Given the description of an element on the screen output the (x, y) to click on. 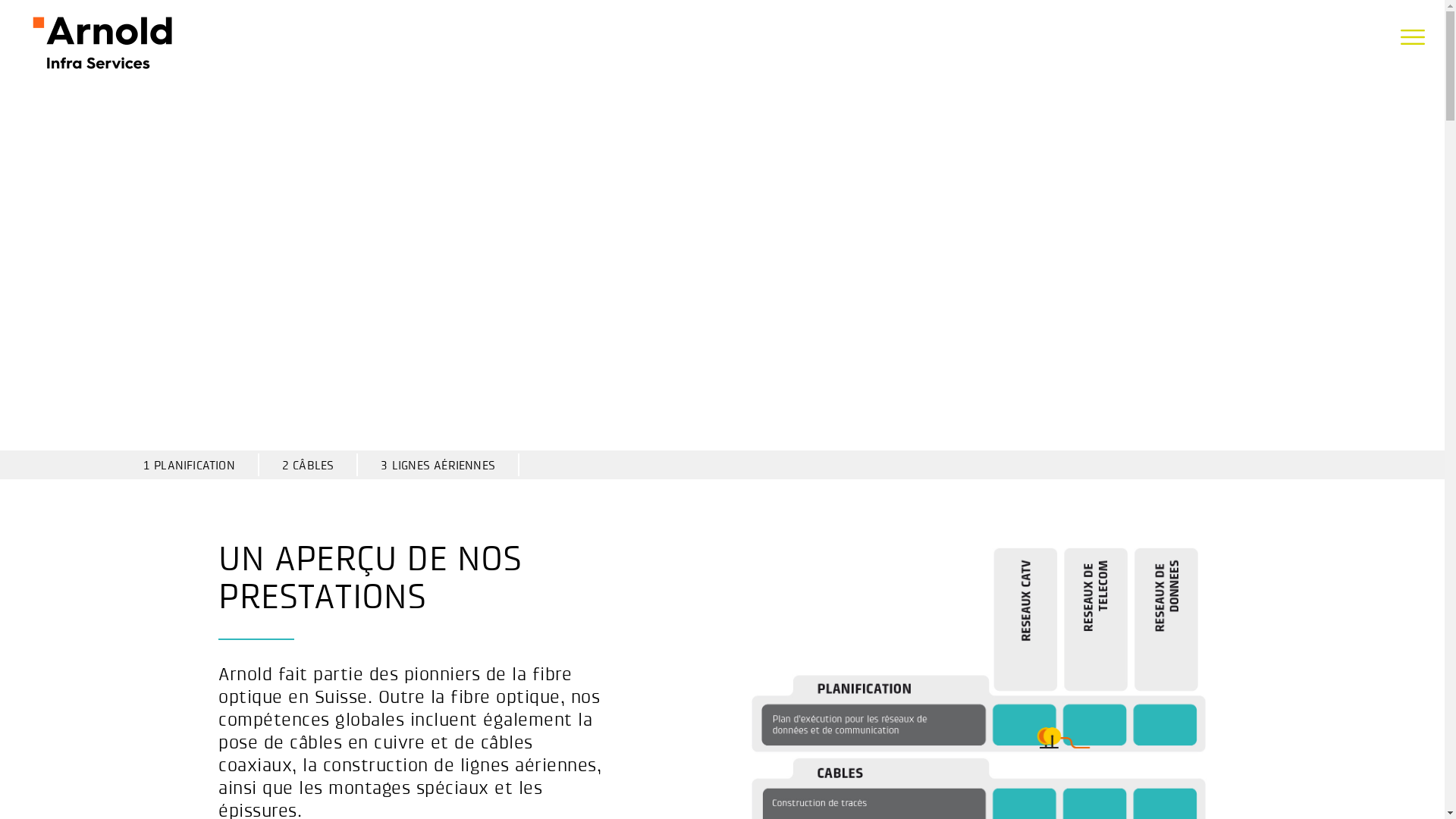
PLANIFICATION Element type: text (194, 465)
